Given the description of an element on the screen output the (x, y) to click on. 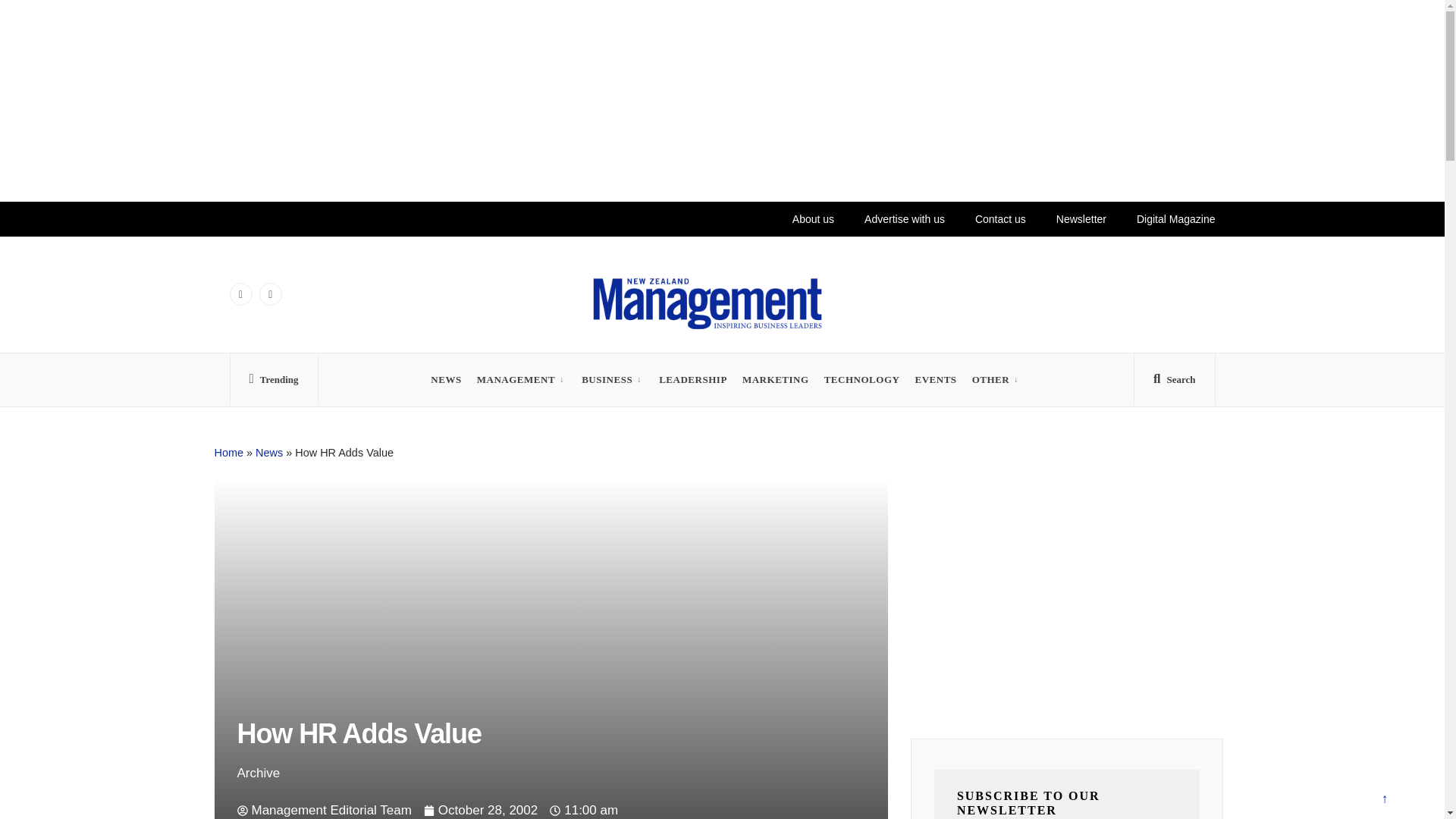
EVENTS (935, 379)
Home (228, 452)
MANAGEMENT (515, 379)
TECHNOLOGY (861, 379)
Contact us (991, 218)
OTHER (991, 379)
LEADERSHIP (692, 379)
BUSINESS (605, 379)
Scroll to top (1384, 800)
Advertise with us (886, 218)
